Given the description of an element on the screen output the (x, y) to click on. 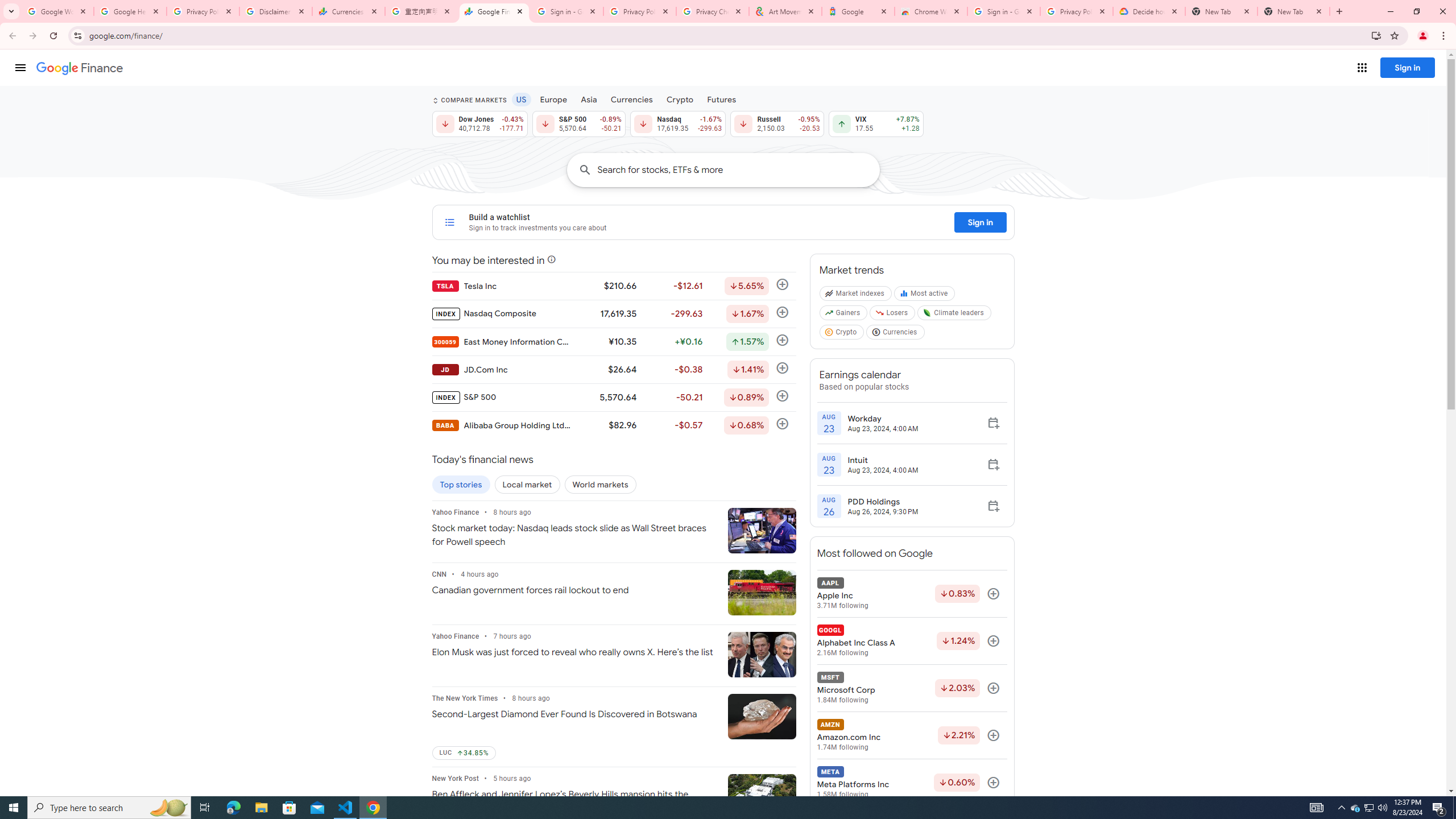
US (521, 99)
Europe (553, 99)
Add to calendar (993, 506)
AAPL Apple Inc 3.71M following Down by 0.83% Follow (911, 593)
COMPARE MARKETS (468, 100)
Losers (893, 315)
Finance (79, 68)
Gainers (844, 315)
